Given the description of an element on the screen output the (x, y) to click on. 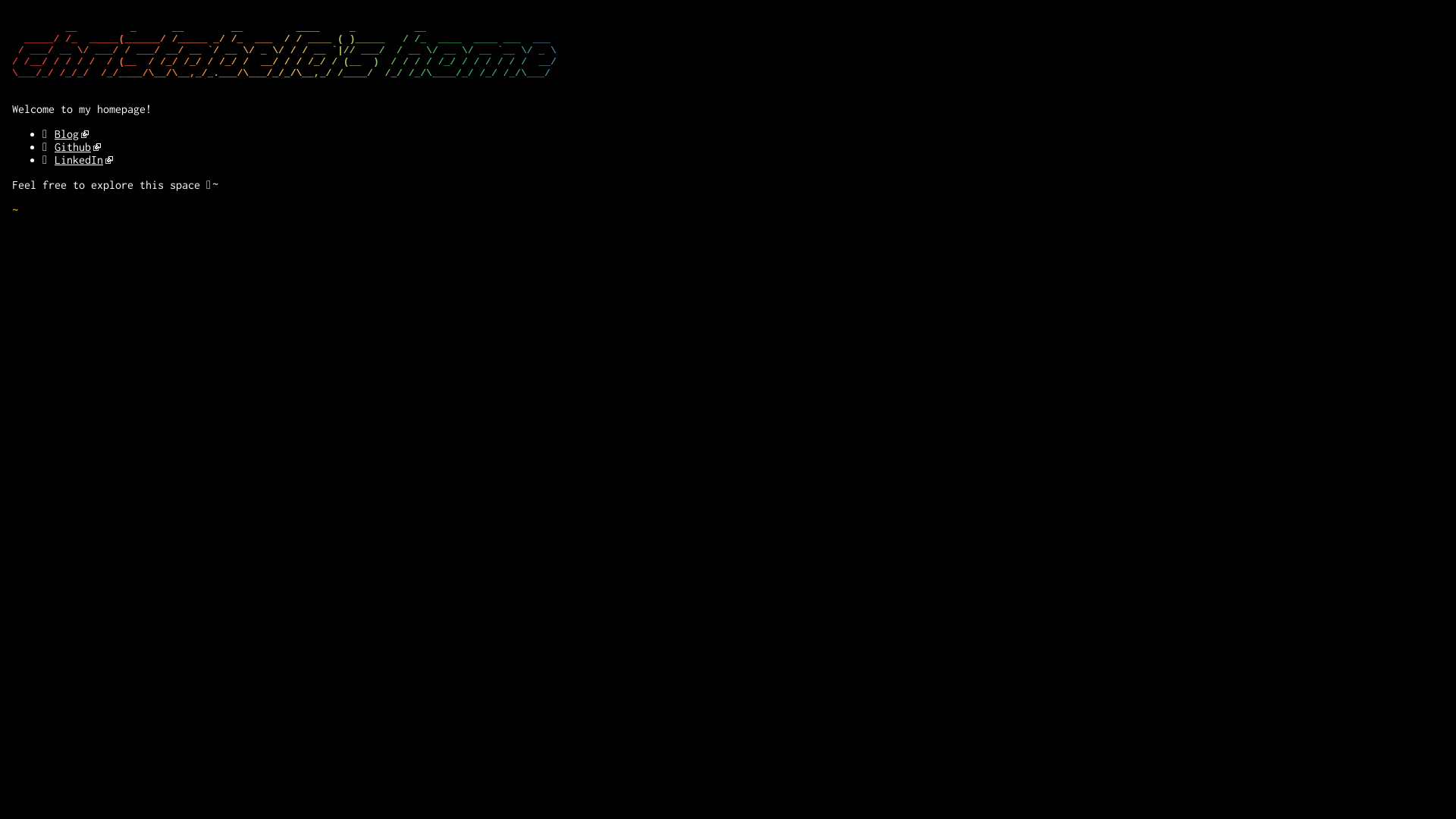
LinkedIn Element type: text (83, 159)
Github Element type: text (77, 146)
Blog Element type: text (71, 133)
